Given the description of an element on the screen output the (x, y) to click on. 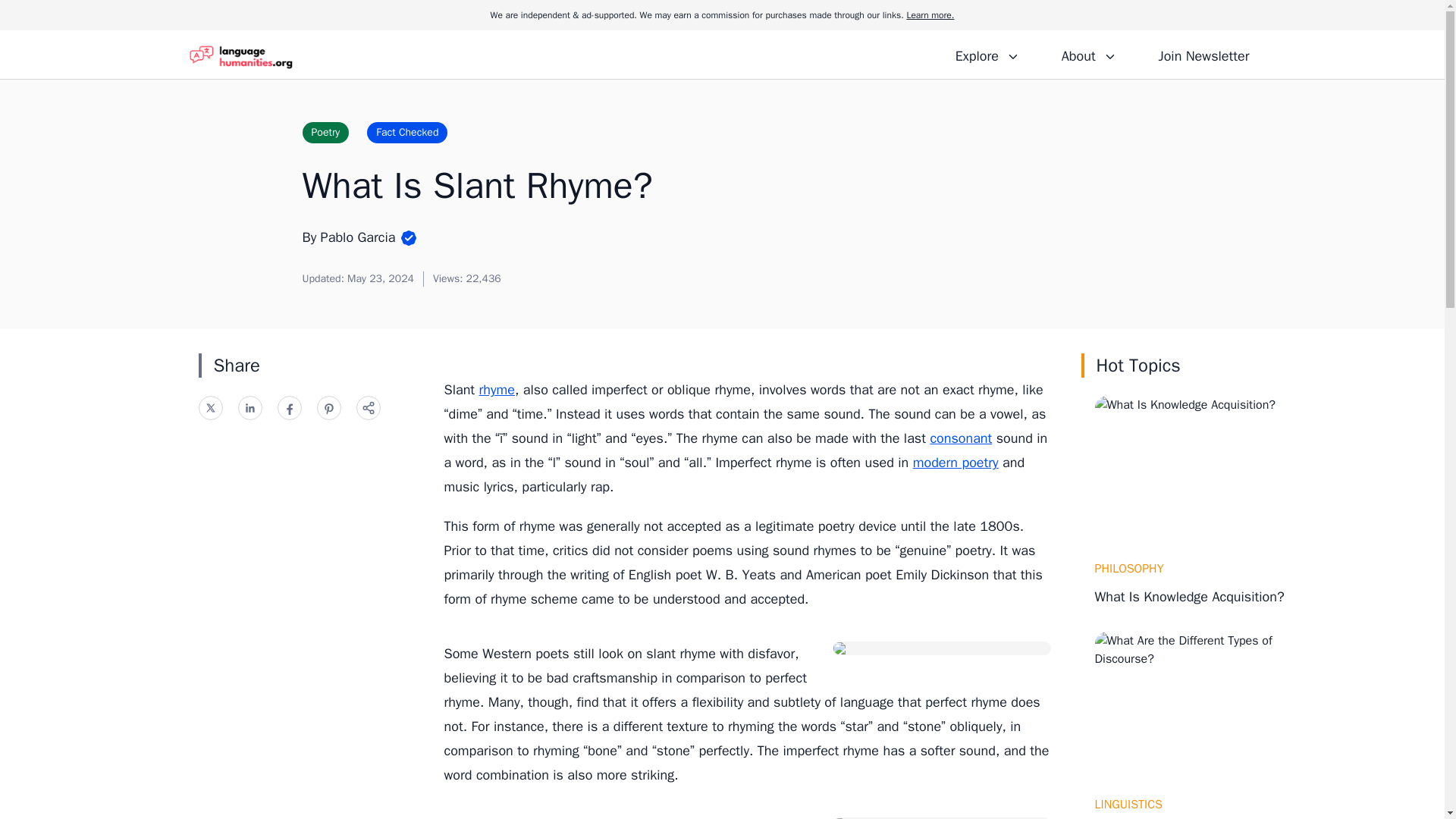
Join Newsletter (1202, 54)
About (1088, 54)
Poetry (325, 132)
Fact Checked (406, 132)
Explore (986, 54)
Learn more. (929, 15)
